Given the description of an element on the screen output the (x, y) to click on. 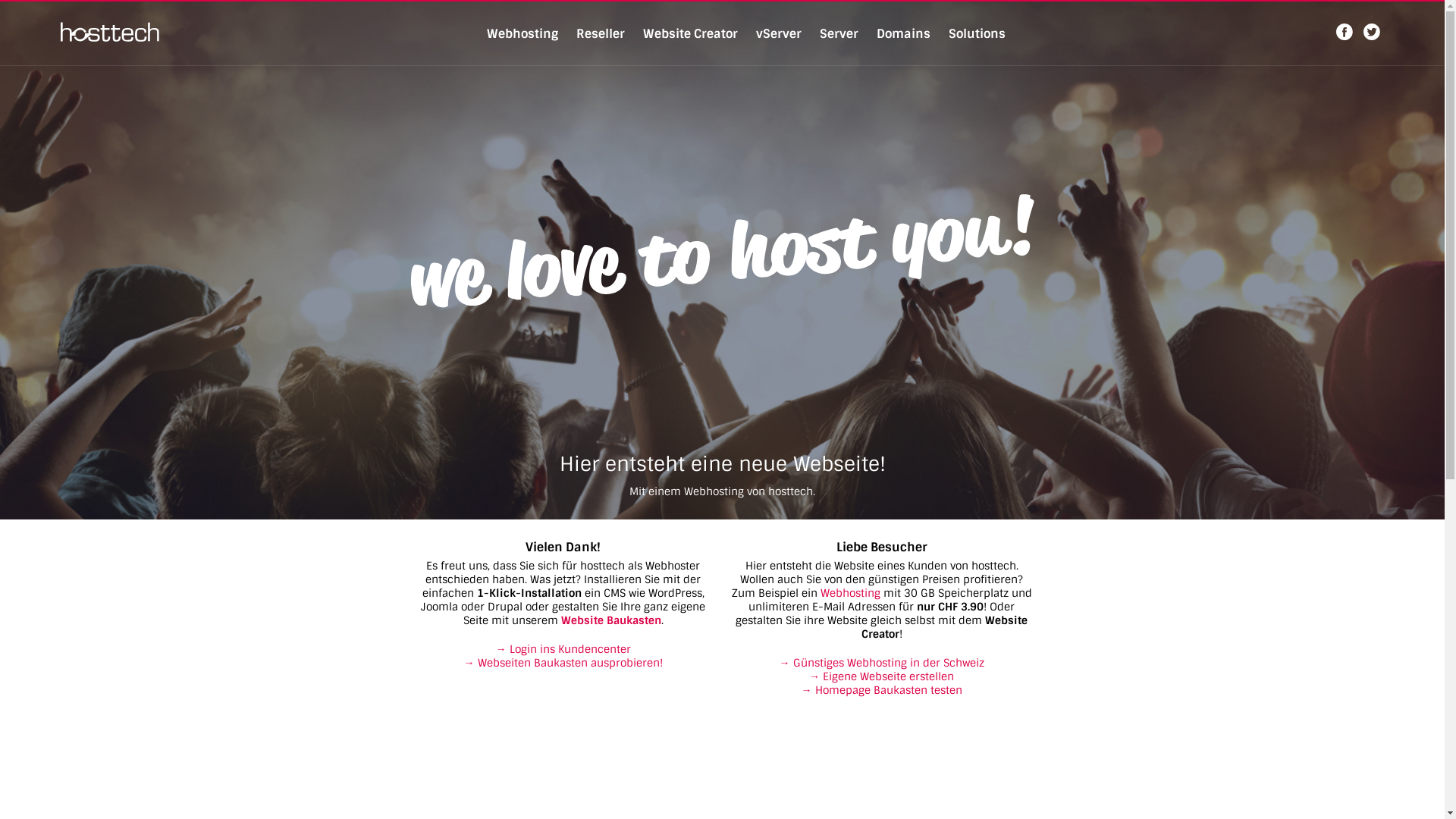
Domains Element type: text (903, 33)
Server Element type: text (838, 33)
Solutions Element type: text (975, 33)
Reseller Element type: text (600, 33)
Website Baukasten Element type: text (611, 620)
Webhosting Element type: text (850, 592)
vServer Element type: text (777, 33)
Webhosting Element type: text (522, 33)
Website Creator Element type: text (690, 33)
